Given the description of an element on the screen output the (x, y) to click on. 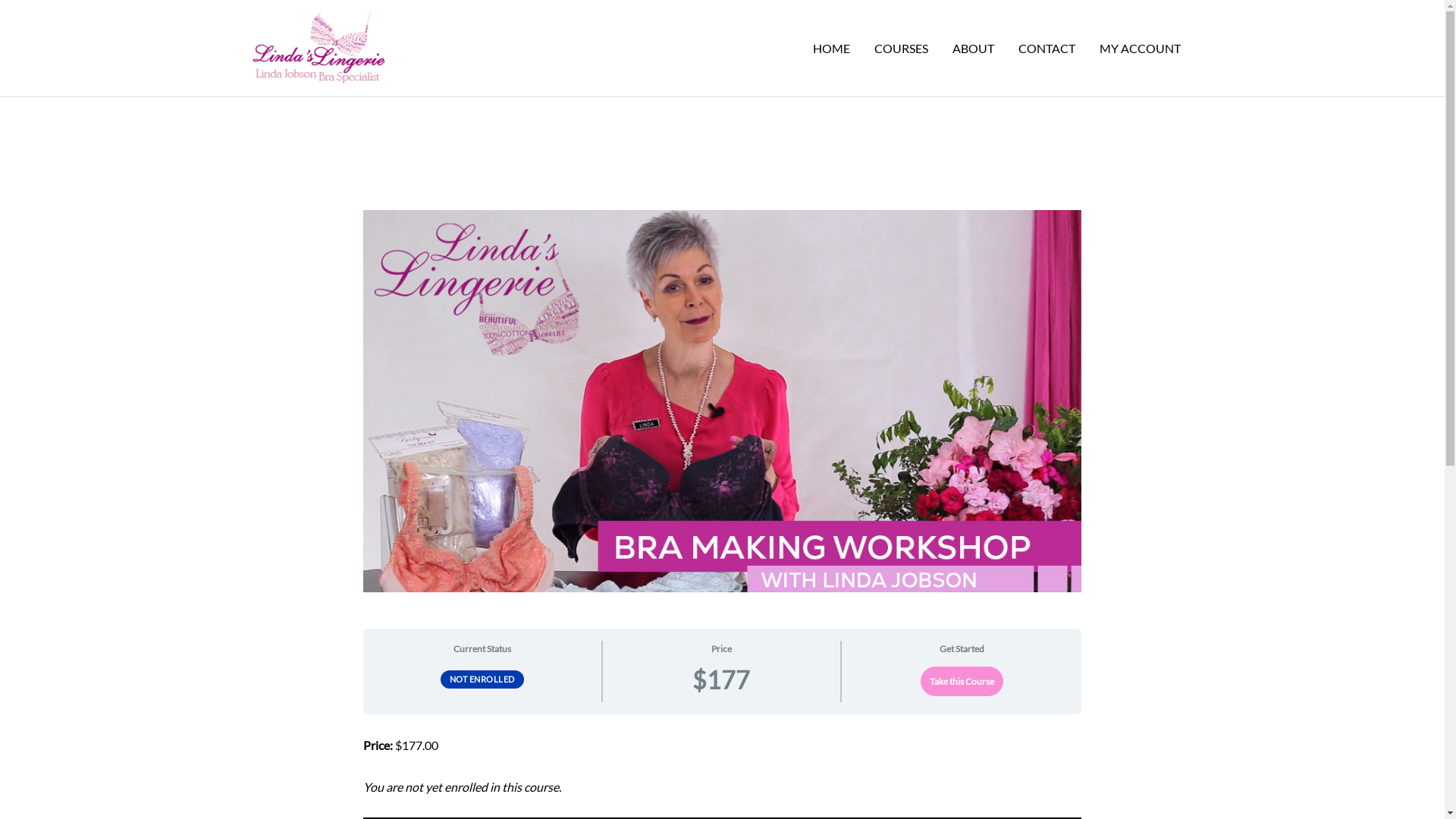
COURSES Element type: text (900, 48)
CONTACT Element type: text (1045, 48)
MY ACCOUNT Element type: text (1139, 48)
HOME Element type: text (831, 48)
ABOUT Element type: text (973, 48)
Take this Course Element type: text (961, 681)
